Given the description of an element on the screen output the (x, y) to click on. 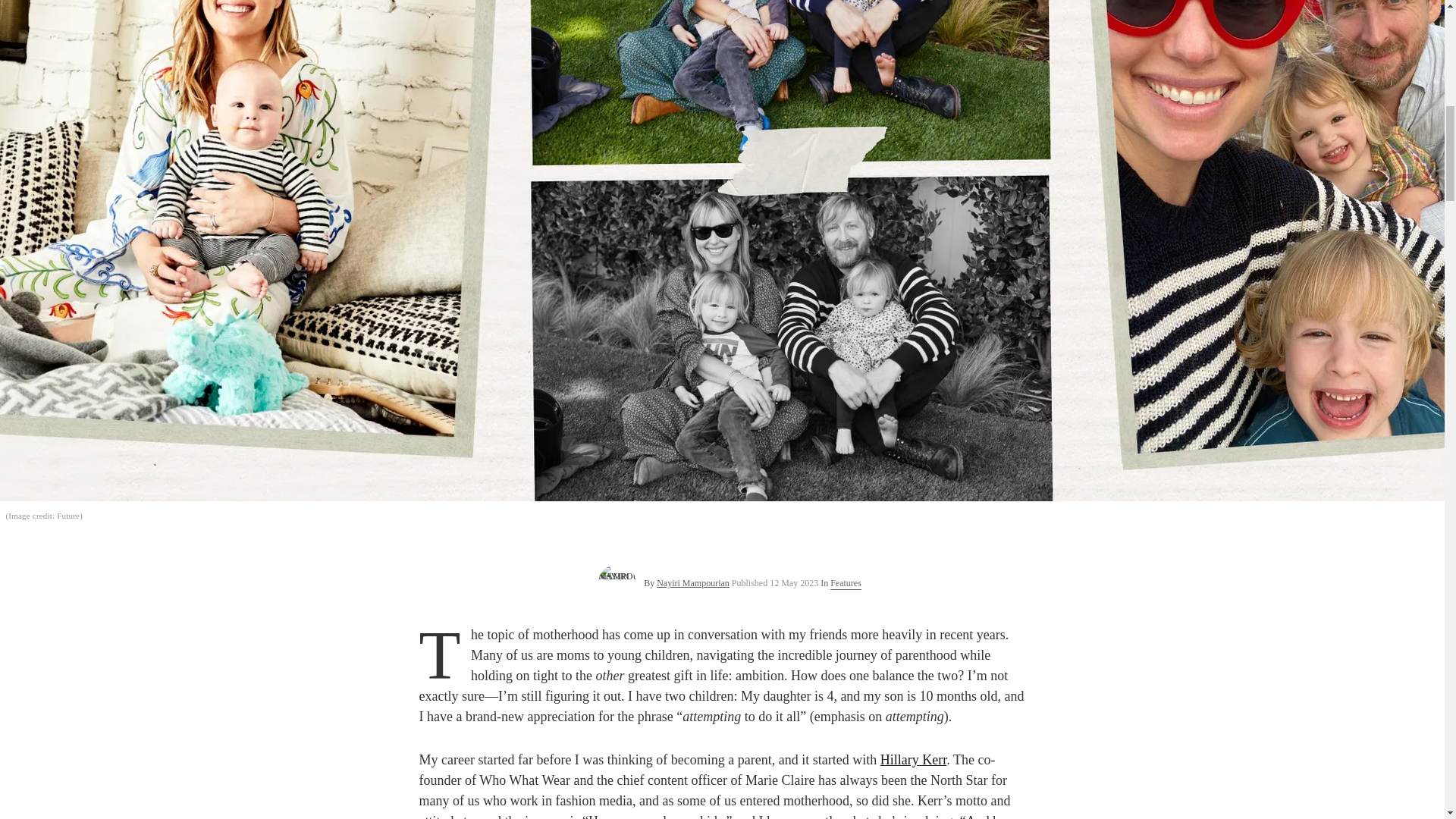
Nayiri Mampourian (692, 583)
Hillary Kerr (913, 759)
Features (845, 582)
